Given the description of an element on the screen output the (x, y) to click on. 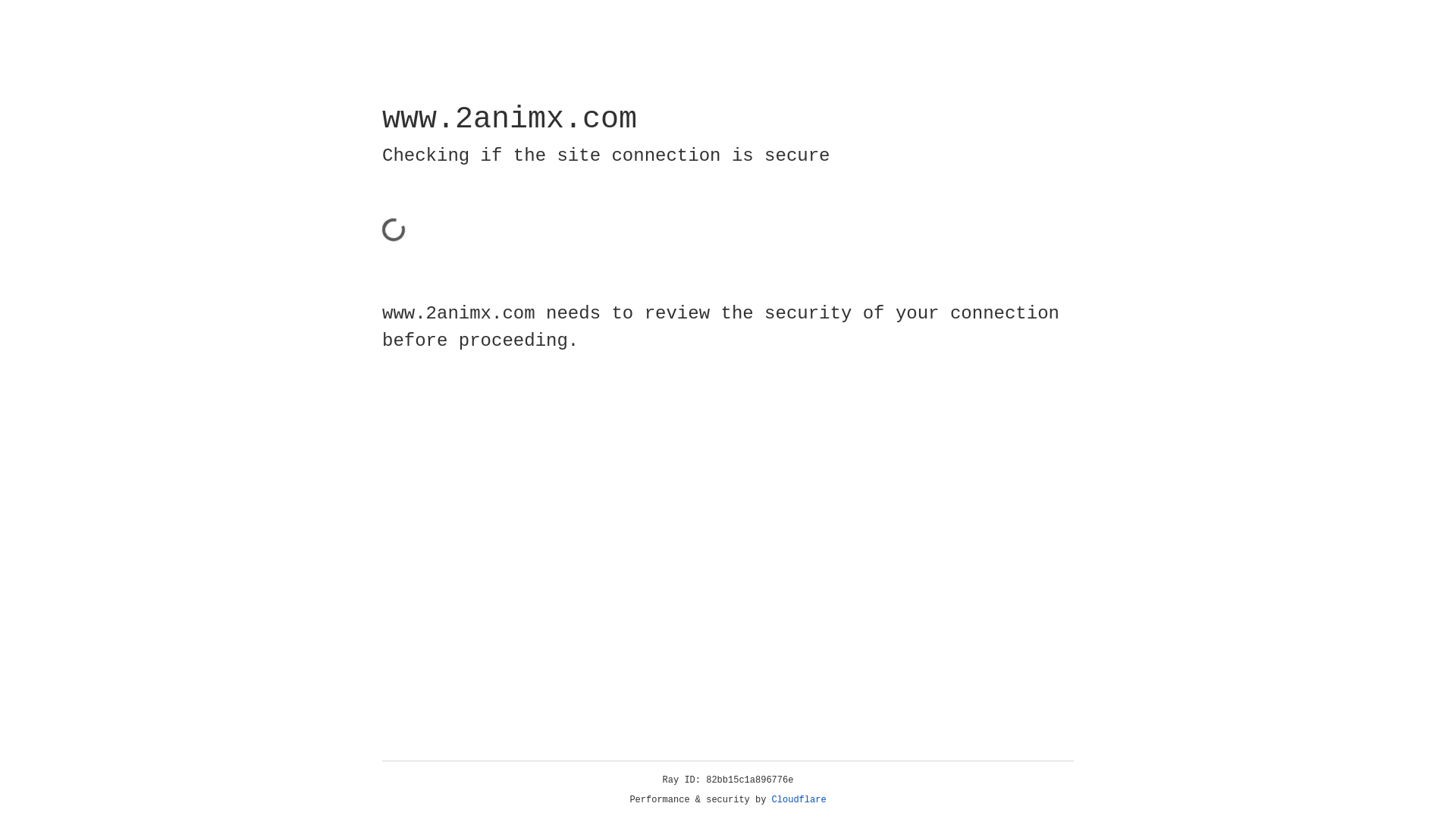
Cloudflare Element type: text (798, 799)
